Given the description of an element on the screen output the (x, y) to click on. 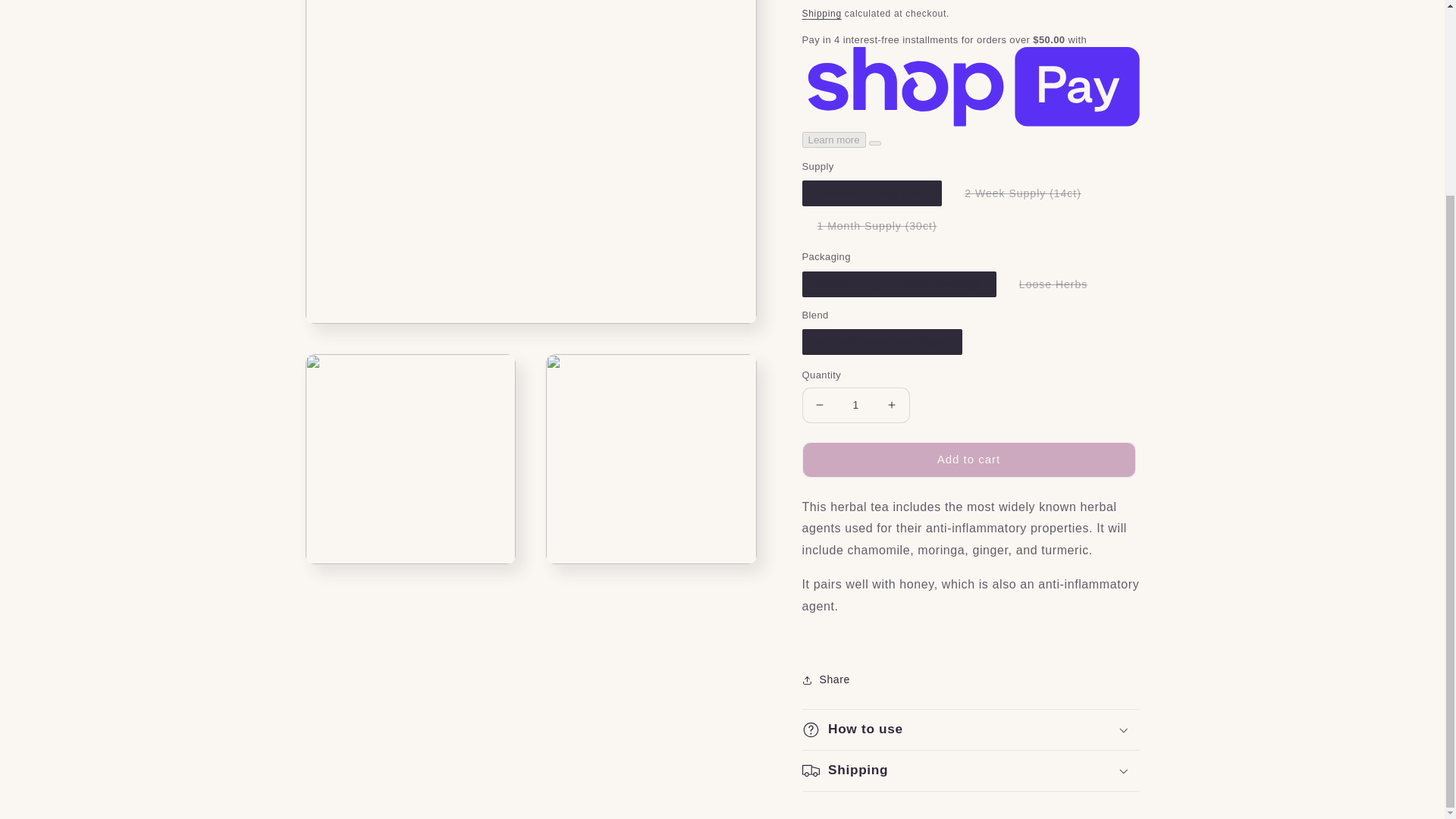
1 (856, 405)
